Given the description of an element on the screen output the (x, y) to click on. 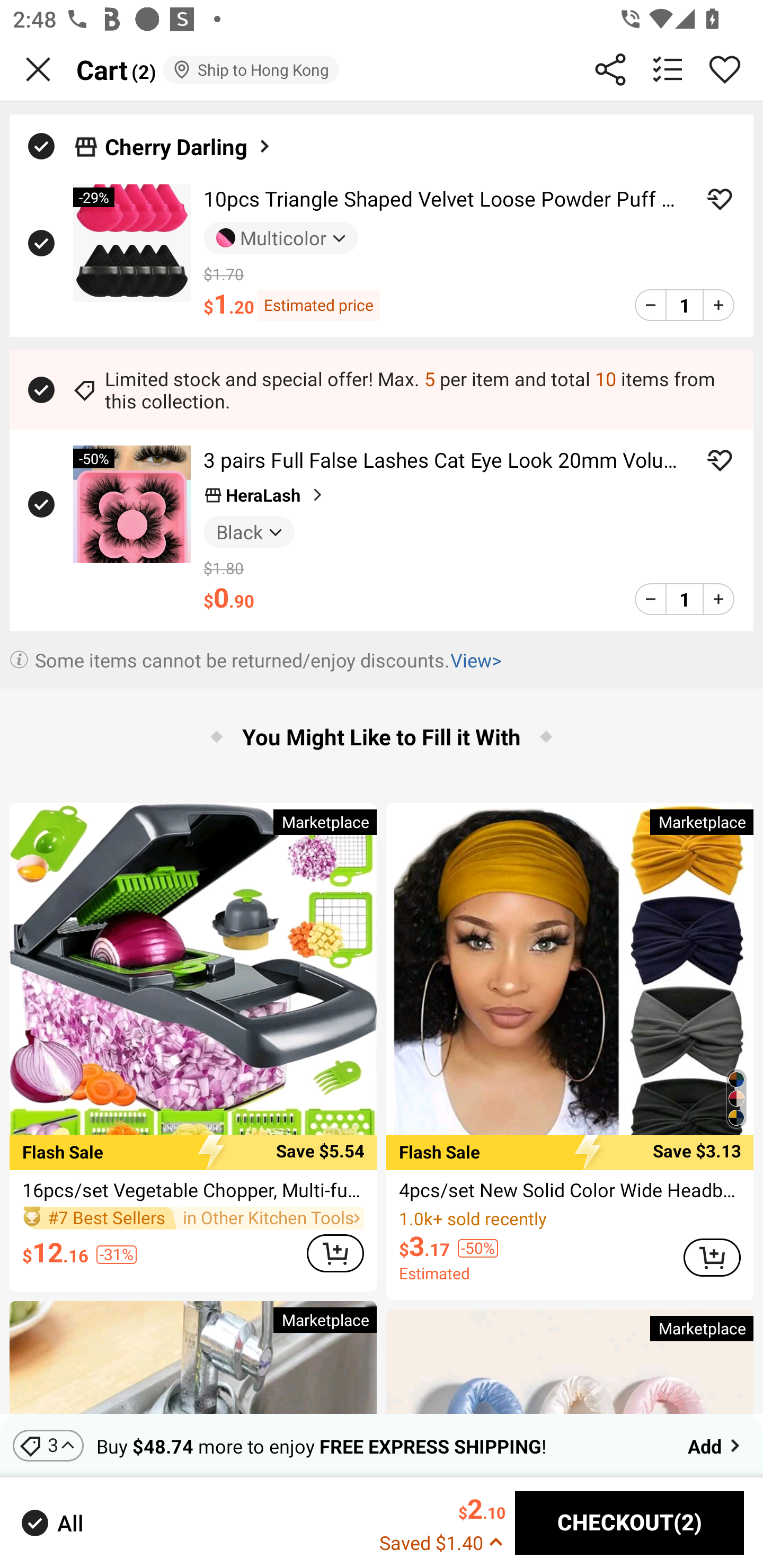
BACK (38, 68)
Wishlist (724, 68)
Share (610, 68)
batch delete (667, 68)
Ship to Hong Kong (250, 68)
Cherry Darling (381, 140)
Cherry Darling (189, 146)
ADD TO WISHLIST (719, 199)
 Multicolor (280, 238)
product quantity minus 1 (650, 304)
1 edit product quantity (684, 304)
product quantity add 1 (718, 304)
ADD TO WISHLIST (719, 460)
HeraLash (264, 494)
Black (248, 531)
product quantity minus 1 (650, 598)
1 edit product quantity (684, 598)
product quantity add 1 (718, 598)
#7 Best Sellers in Other Kitchen Tools (192, 1217)
ADD TO CART (334, 1252)
ADD TO CART (711, 1257)
3 (48, 1445)
Add (715, 1445)
CHECKOUT(2) (629, 1523)
All (51, 1522)
